Given the description of an element on the screen output the (x, y) to click on. 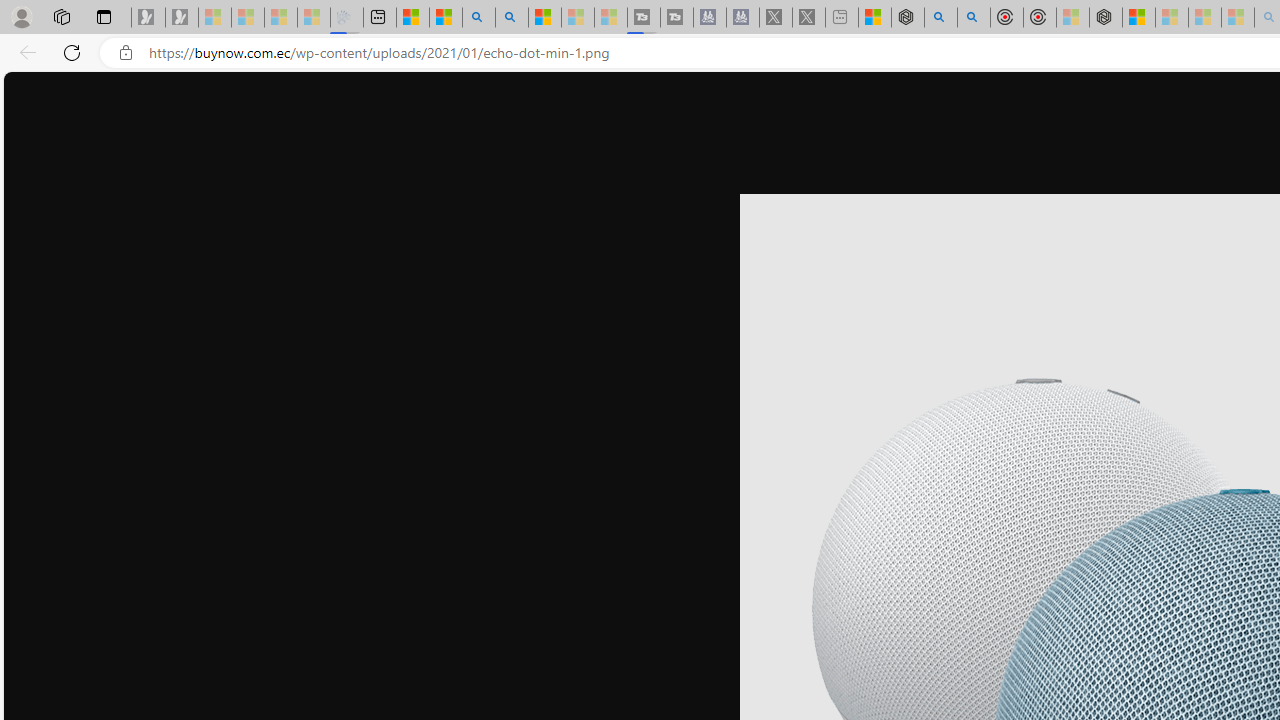
Wildlife - MSN (874, 17)
View site information (125, 53)
X - Sleeping (808, 17)
New tab - Sleeping (841, 17)
poe ++ standard - Search (973, 17)
